Given the description of an element on the screen output the (x, y) to click on. 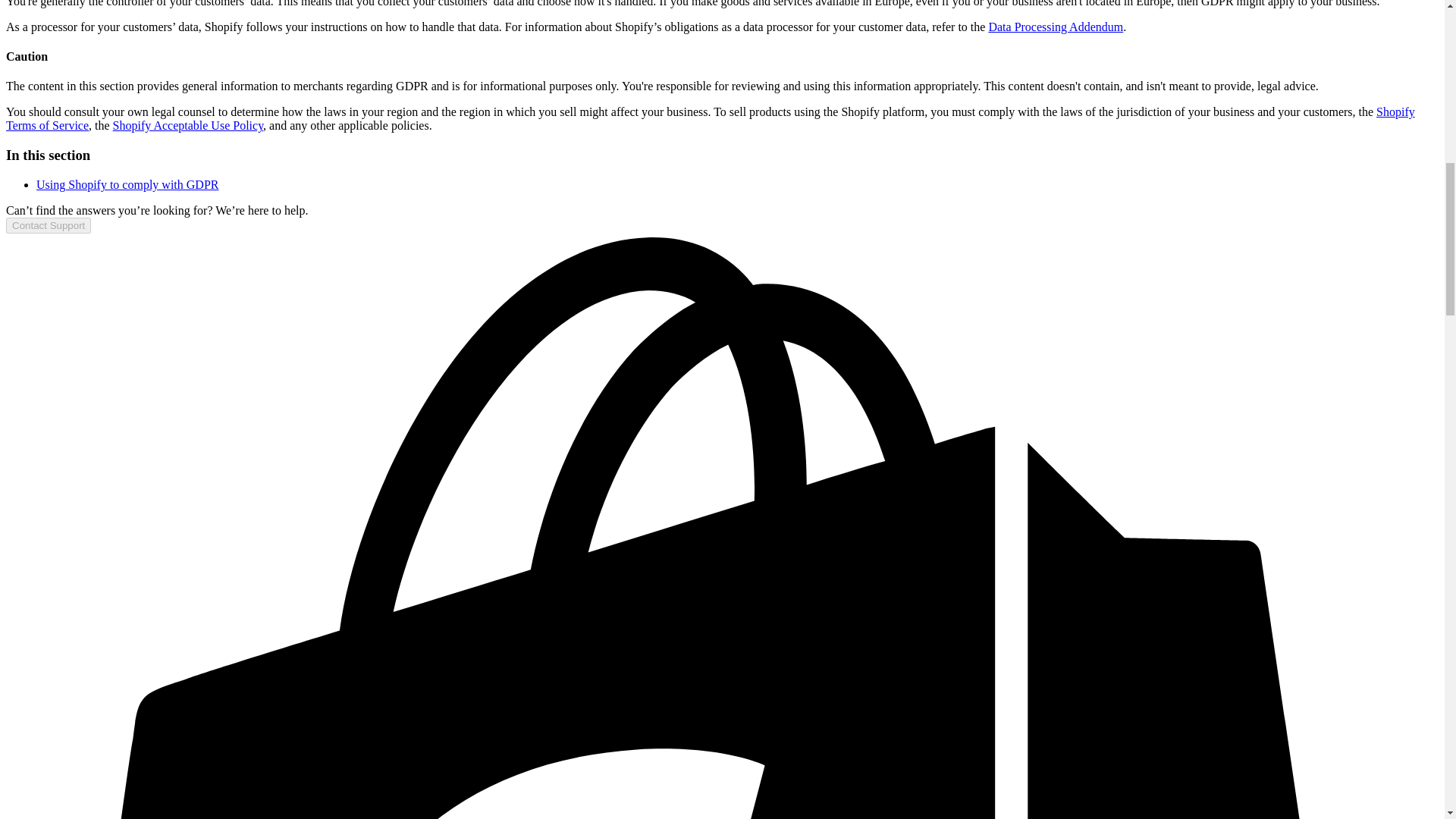
Shopify Acceptable Use Policy (188, 124)
Shopify Terms of Service (710, 118)
Using Shopify to comply with GDPR (127, 184)
Data Processing Addendum (1055, 26)
Contact Support (47, 225)
